Given the description of an element on the screen output the (x, y) to click on. 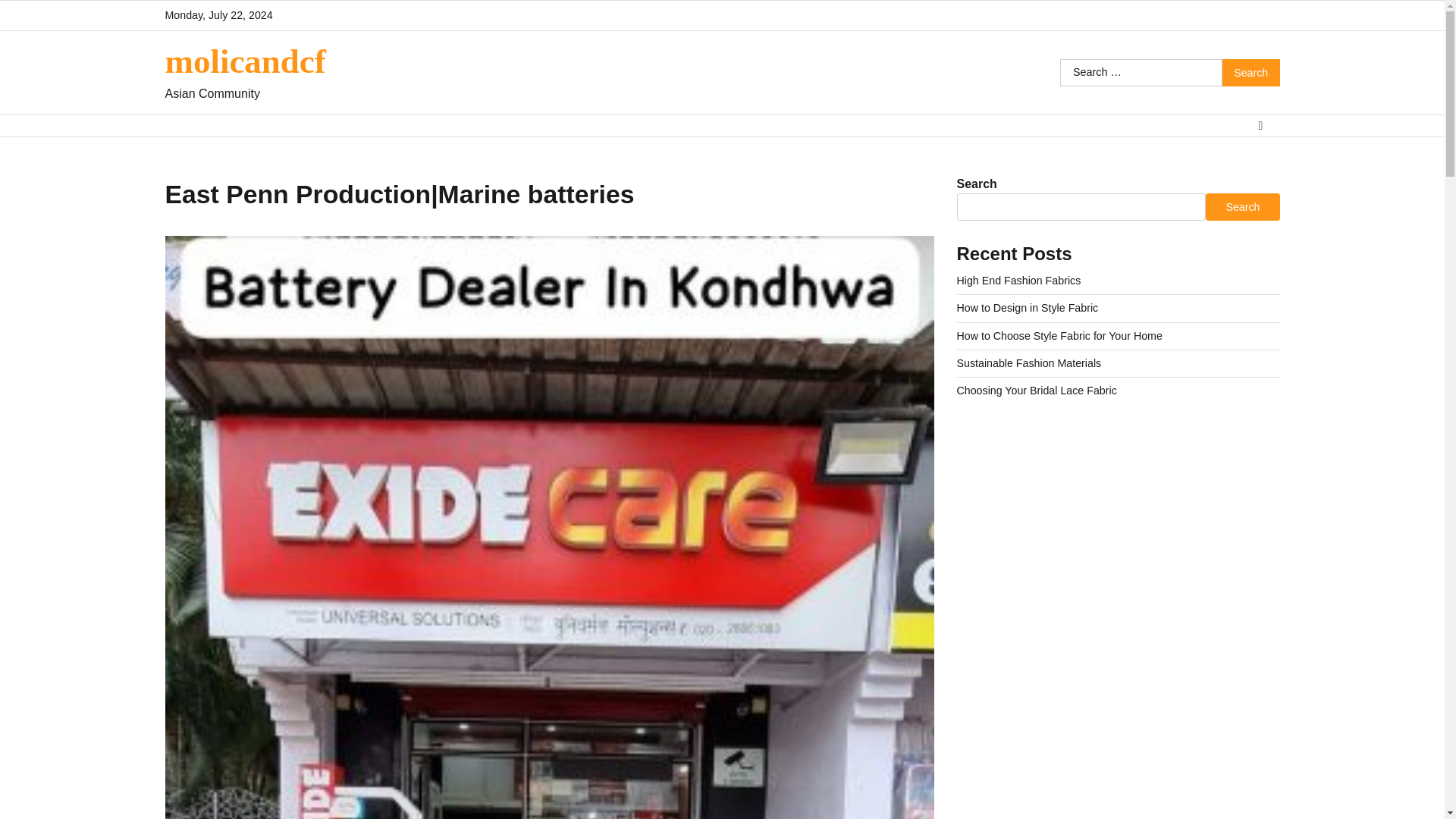
Choosing Your Bridal Lace Fabric (1036, 390)
View Random Post (1260, 125)
Search (1251, 72)
molicandcf (245, 61)
Search (1251, 72)
High End Fashion Fabrics (1018, 280)
How to Choose Style Fabric for Your Home (1058, 335)
Search (1242, 206)
Sustainable Fashion Materials (1029, 363)
Search (1251, 72)
How to Design in Style Fabric (1027, 307)
